Given the description of an element on the screen output the (x, y) to click on. 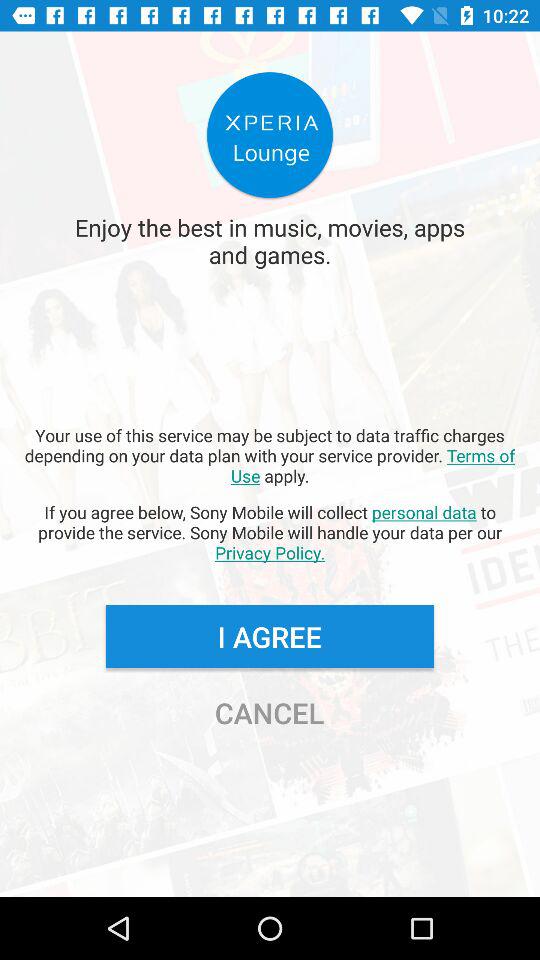
launch app below the your use of app (270, 532)
